Given the description of an element on the screen output the (x, y) to click on. 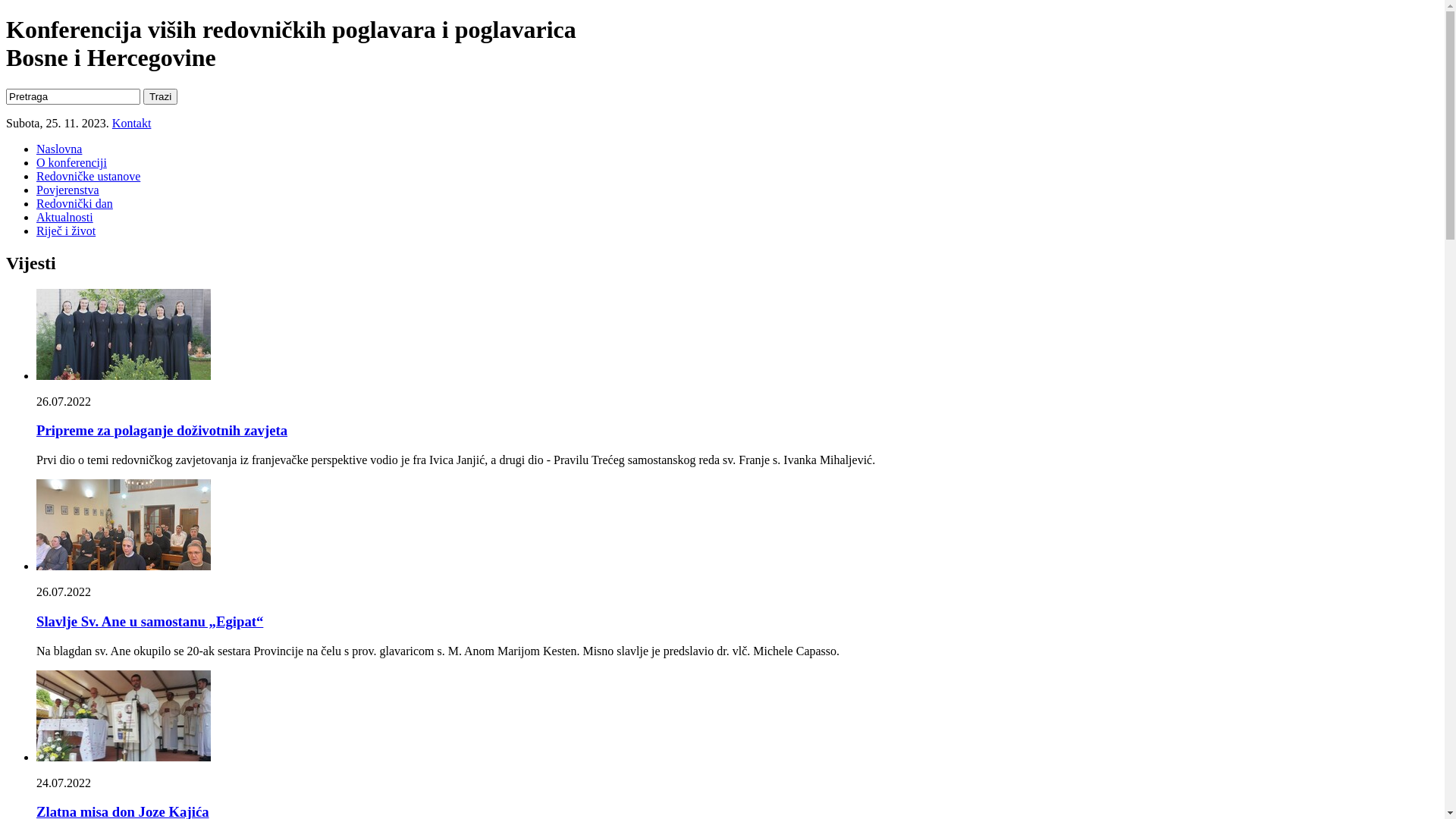
Pretraga Element type: hover (73, 96)
Povjerenstva Element type: text (67, 189)
Kontakt Element type: text (131, 122)
Aktualnosti Element type: text (64, 216)
Naslovna Element type: text (58, 148)
Trazi Element type: text (160, 96)
O konferenciji Element type: text (71, 162)
